Given the description of an element on the screen output the (x, y) to click on. 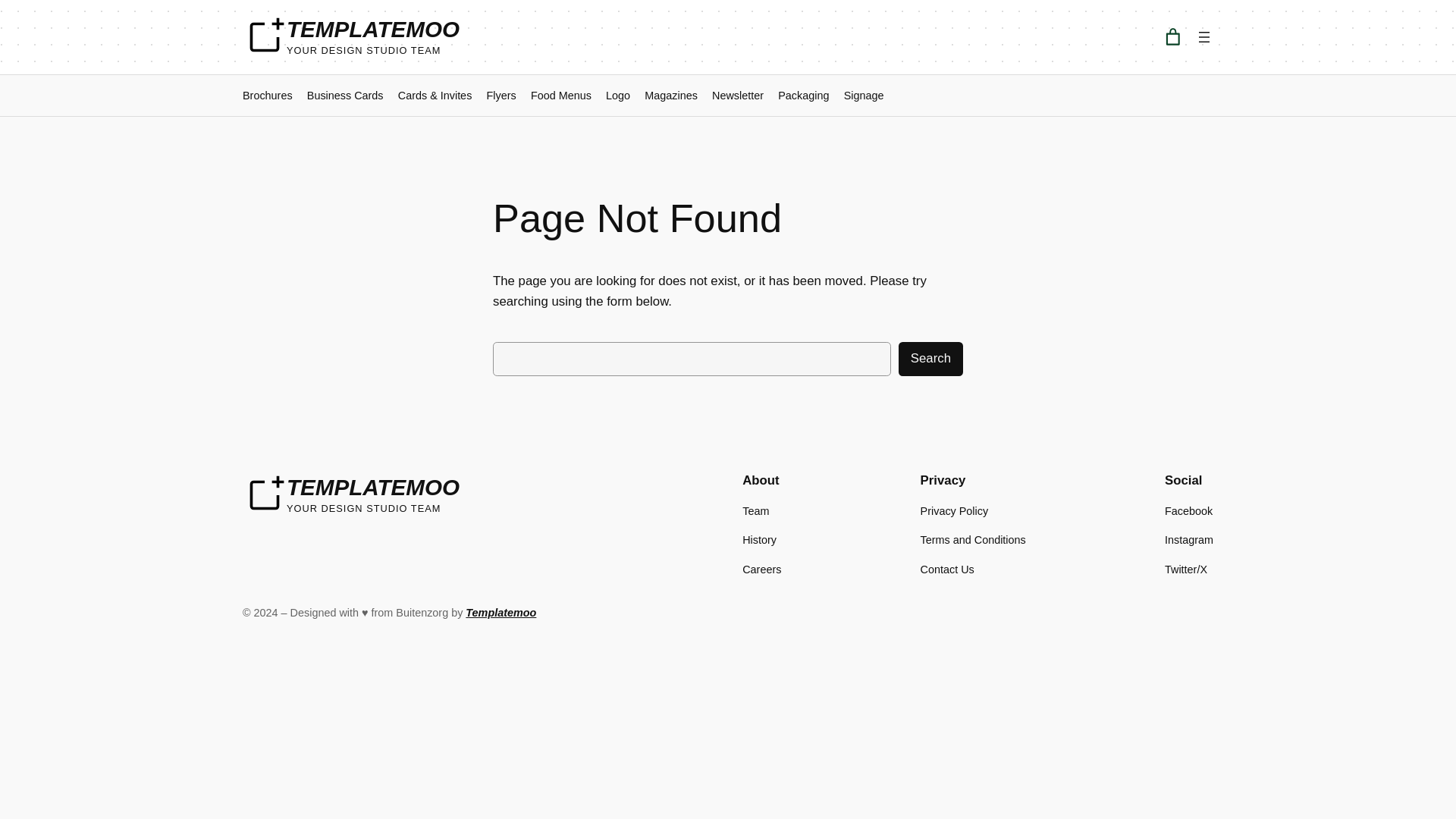
Careers (761, 569)
Search (930, 358)
Team (755, 510)
Magazines (671, 95)
Facebook (1188, 510)
History (759, 539)
Newsletter (736, 95)
Flyers (501, 95)
Terms and Conditions (973, 539)
Brochures (267, 95)
Templatemoo (500, 612)
Business Cards (345, 95)
Signage (863, 95)
Food Menus (561, 95)
Privacy Policy (954, 510)
